Given the description of an element on the screen output the (x, y) to click on. 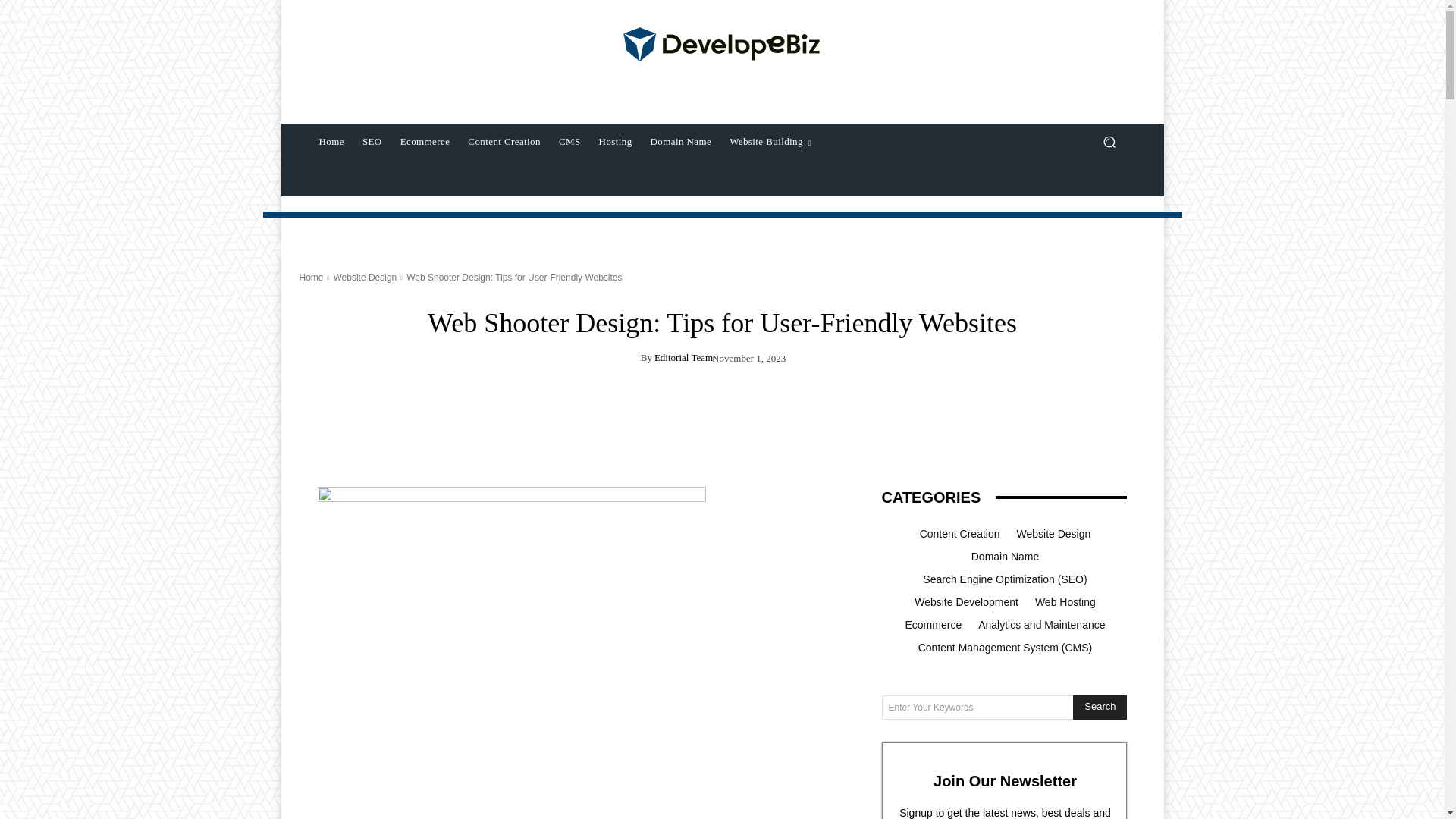
Domain Name (681, 141)
View all posts in Website Design (364, 276)
CMS (569, 141)
Ecommerce (425, 141)
SEO (372, 141)
Home (310, 276)
Website Building (770, 141)
Home (330, 141)
Hosting (615, 141)
Content Creation (504, 141)
DevelopEBiz: Guides on Web Building, Content, SEO, Ecommerce (721, 45)
